Given the description of an element on the screen output the (x, y) to click on. 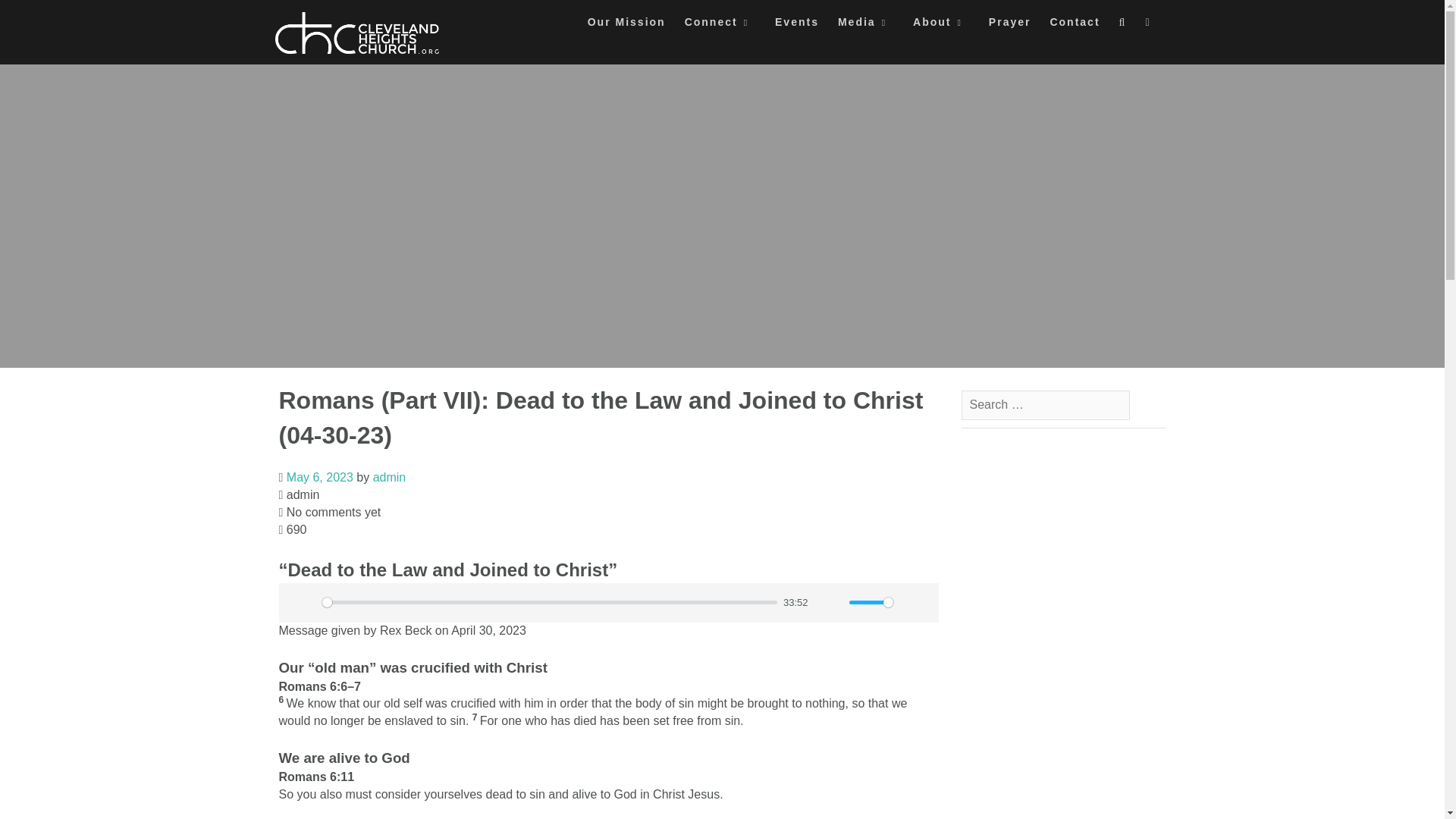
Cleveland Heights Church (357, 32)
1 (870, 602)
Contact (1074, 25)
Media (865, 25)
Connect (719, 25)
Prayer (1009, 25)
Our Mission (626, 25)
0 (549, 602)
Mute (825, 602)
Play (298, 602)
Settings (911, 602)
About (940, 25)
Events (796, 25)
May 6, 2023 (319, 477)
Search (26, 16)
